Given the description of an element on the screen output the (x, y) to click on. 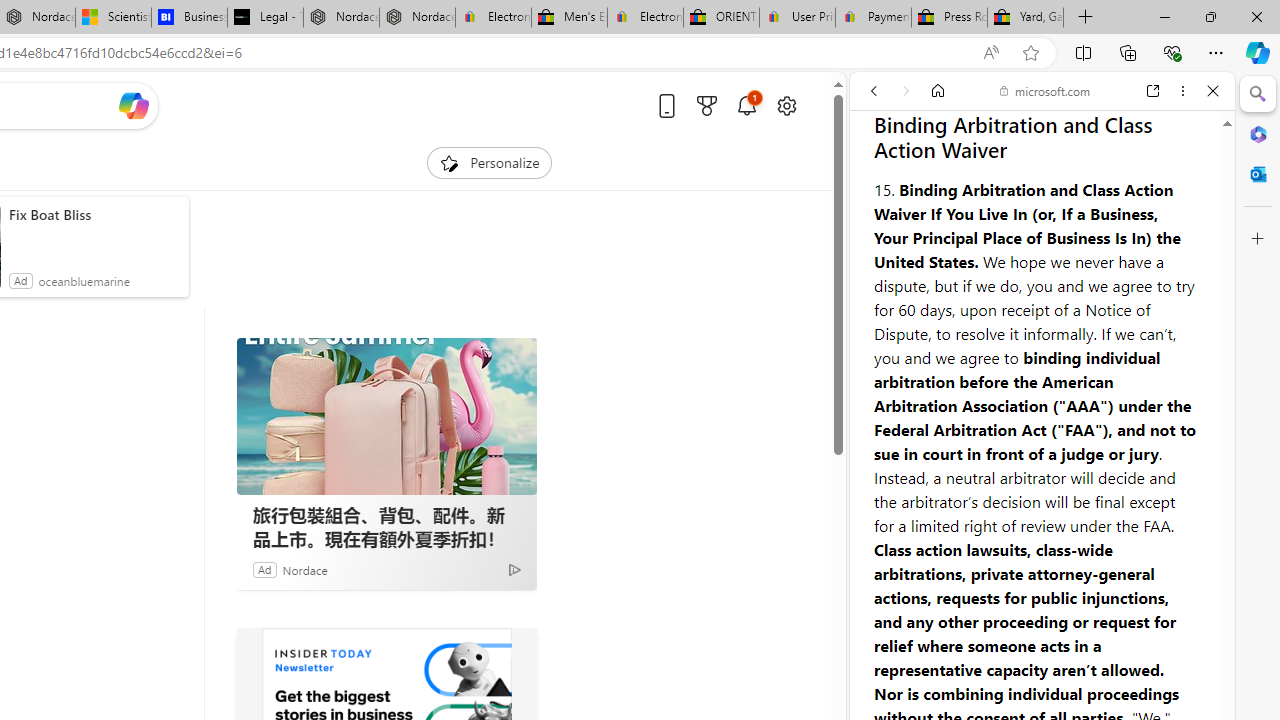
Nordace - Summer Adventures 2024 (340, 17)
Press Room - eBay Inc. (948, 17)
Notifications (746, 105)
Forward (906, 91)
To get missing image descriptions, open the context menu. (449, 162)
Electronics, Cars, Fashion, Collectibles & More | eBay (645, 17)
Yard, Garden & Outdoor Living (1025, 17)
Microsoft rewards (707, 105)
Open Copilot (132, 105)
